Given the description of an element on the screen output the (x, y) to click on. 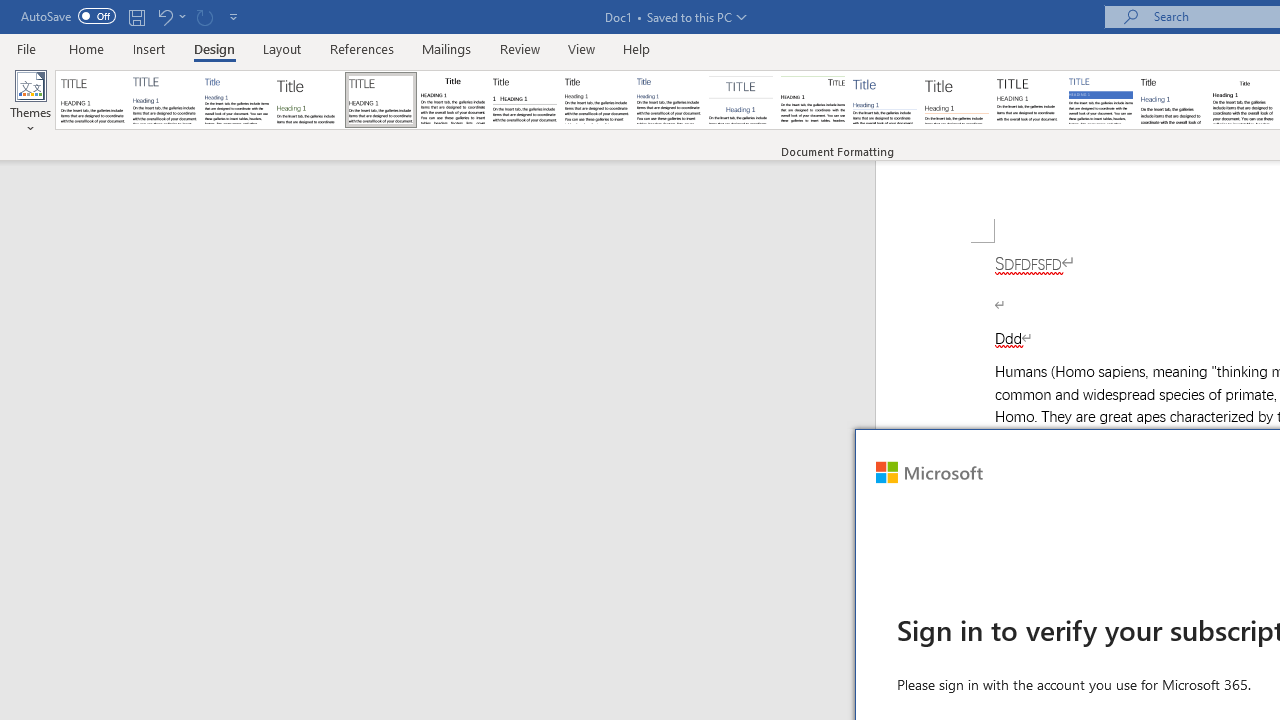
Centered (740, 100)
Document (93, 100)
Lines (Simple) (884, 100)
Undo Apply Quick Style Set (164, 15)
Basic (Simple) (236, 100)
Basic (Stylish) (308, 100)
Can't Repeat (204, 15)
Minimalist (1028, 100)
